Given the description of an element on the screen output the (x, y) to click on. 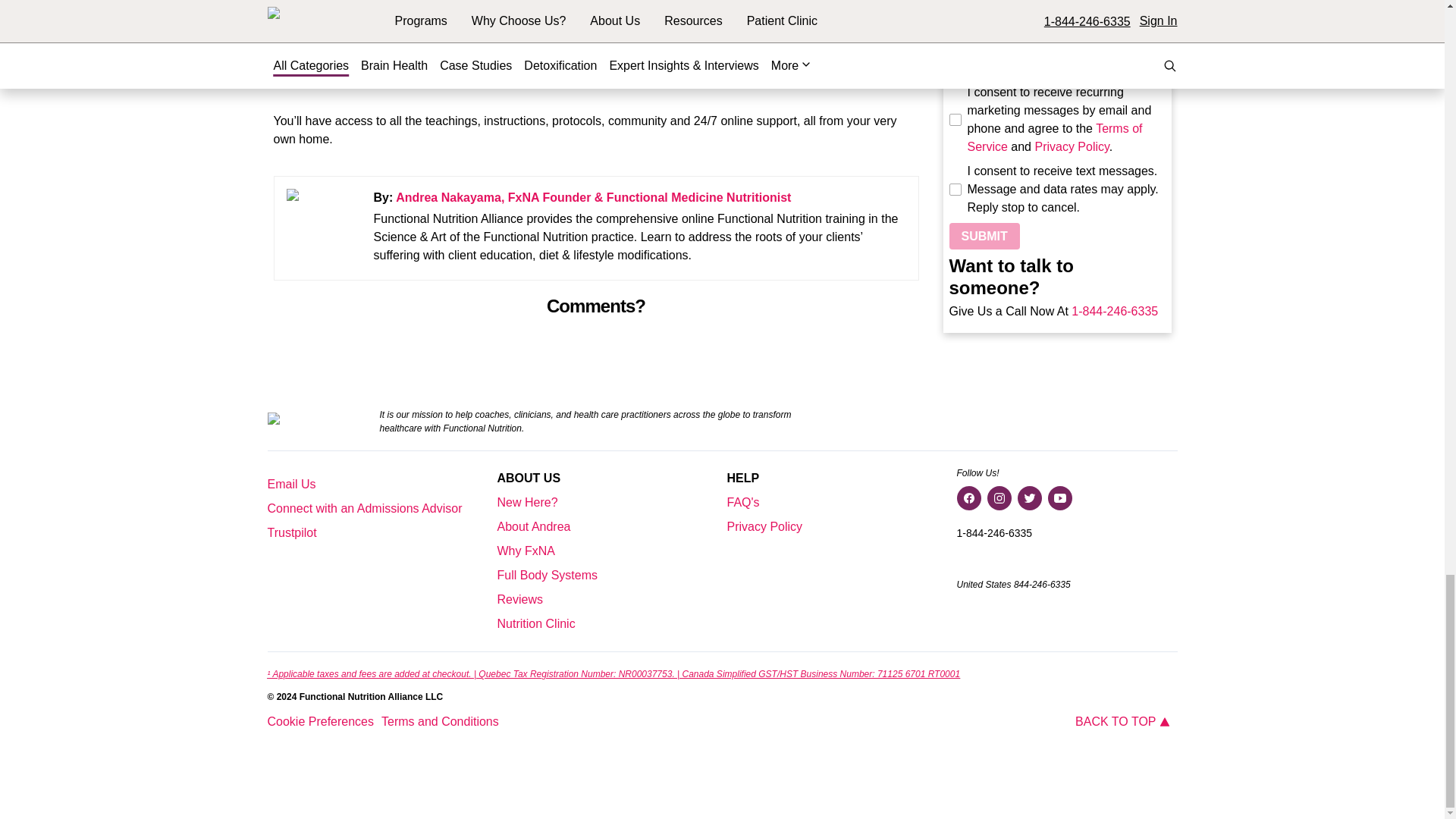
Connect with an Admissions Advisor (363, 508)
Trustpilot (290, 532)
Email Us (290, 483)
